Given the description of an element on the screen output the (x, y) to click on. 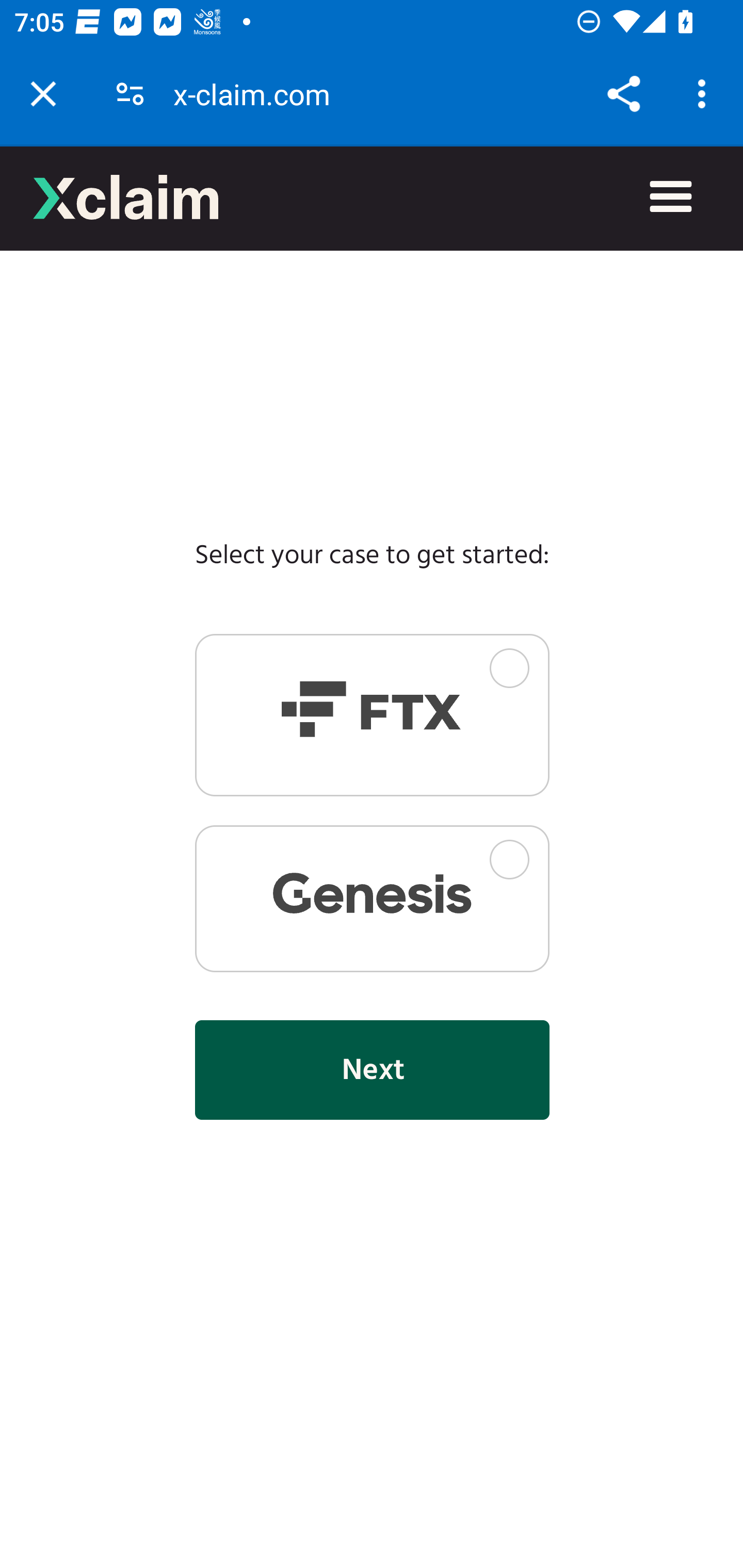
Close tab (43, 93)
Share (623, 93)
Customize and control Google Chrome (705, 93)
Connection is secure (129, 93)
x-claim.com (258, 93)
menu (670, 197)
Xclaim (126, 196)
Next (371, 1069)
